Given the description of an element on the screen output the (x, y) to click on. 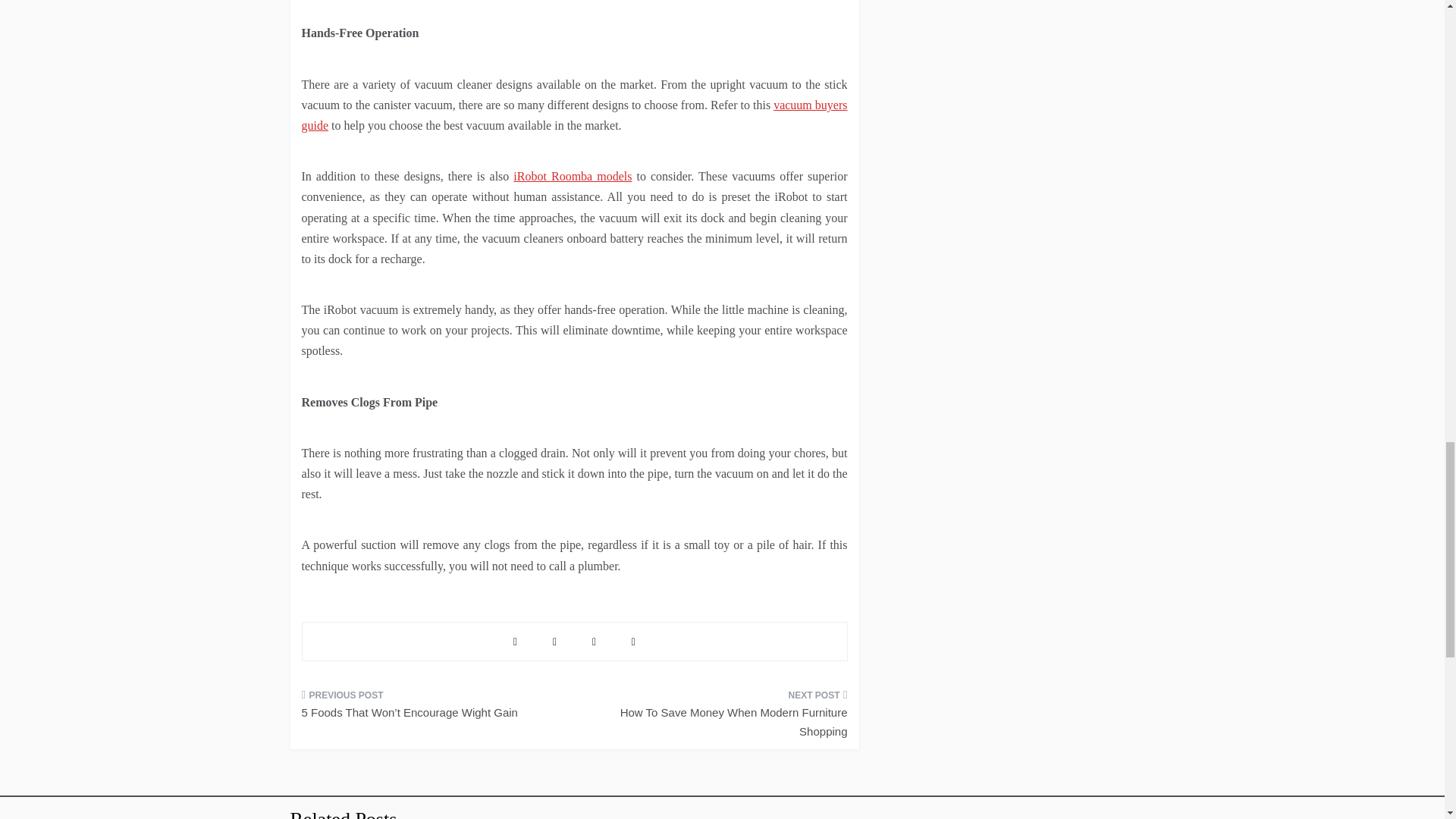
vacuum buyers guide (574, 114)
How To Save Money When Modern Furniture Shopping (716, 718)
iRobot Roomba models (572, 175)
